Given the description of an element on the screen output the (x, y) to click on. 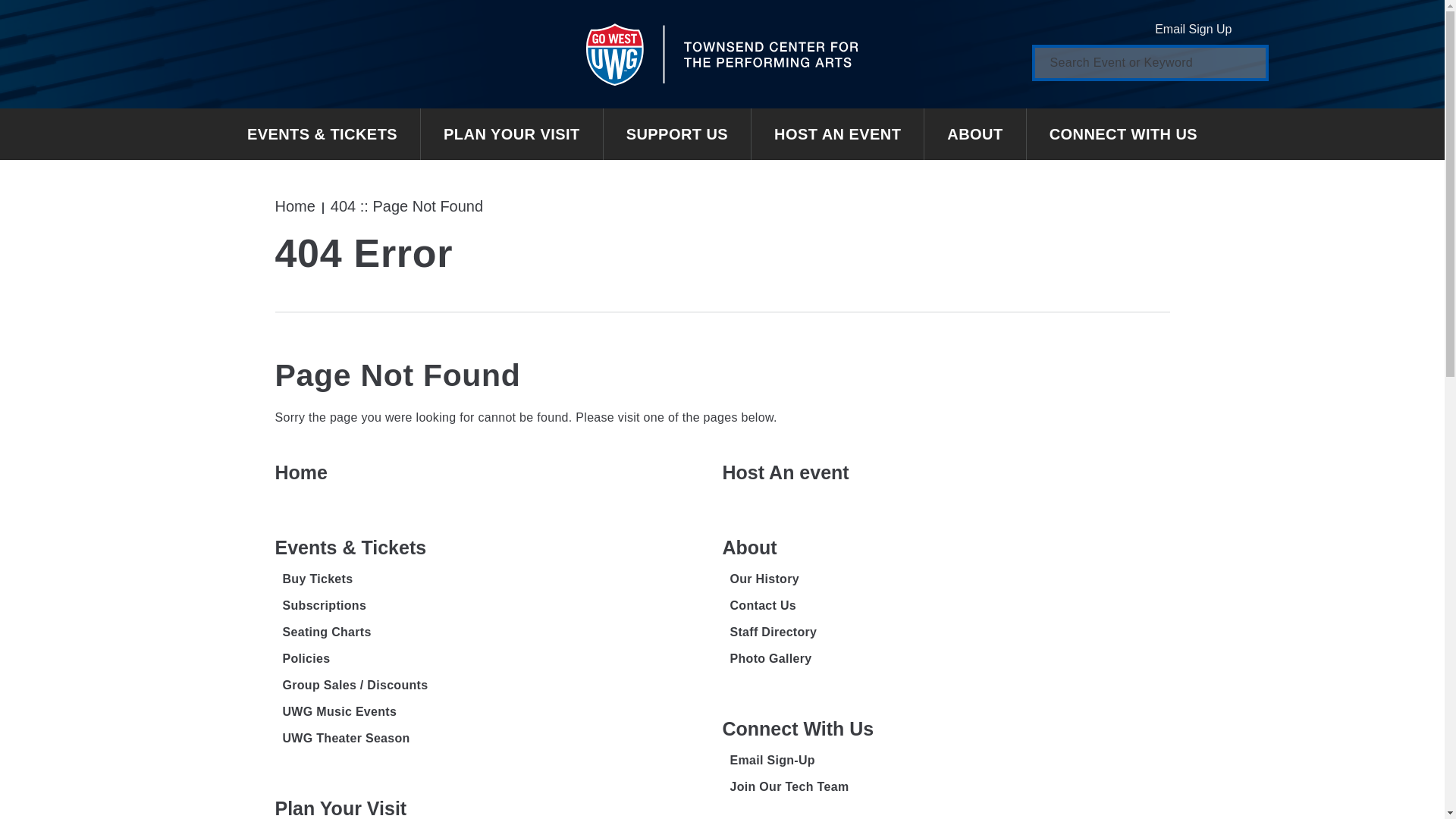
CONNECT WITH US (1123, 133)
Email Sign Up (1203, 29)
Email Sign Up (1203, 29)
PLAN YOUR VISIT (512, 133)
HOST AN EVENT (837, 133)
ABOUT (975, 133)
Townsend Center for the Performing Arts (722, 53)
SUPPORT US (677, 133)
Search (1246, 62)
